Given the description of an element on the screen output the (x, y) to click on. 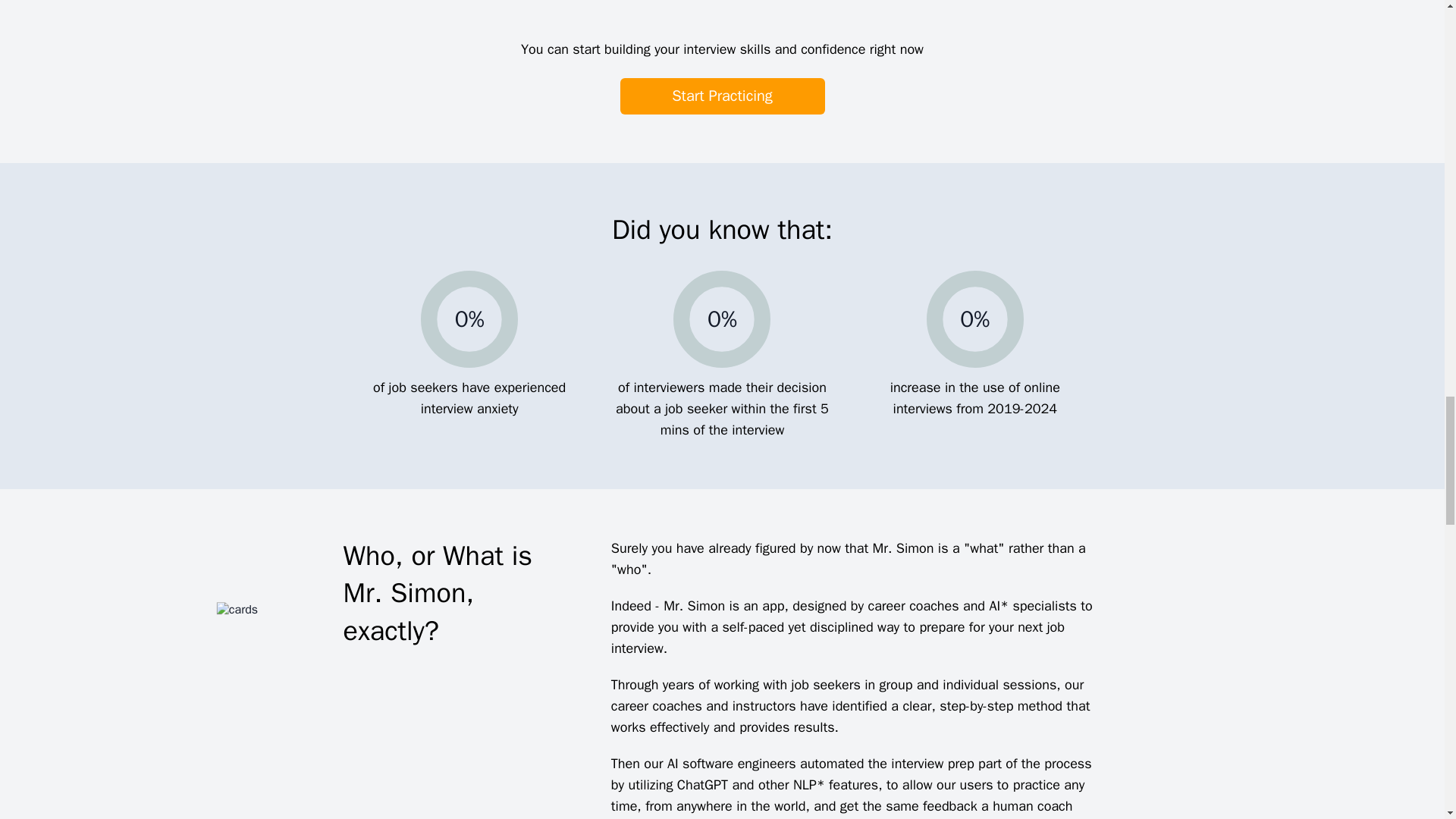
Start Practicing (722, 95)
